Given the description of an element on the screen output the (x, y) to click on. 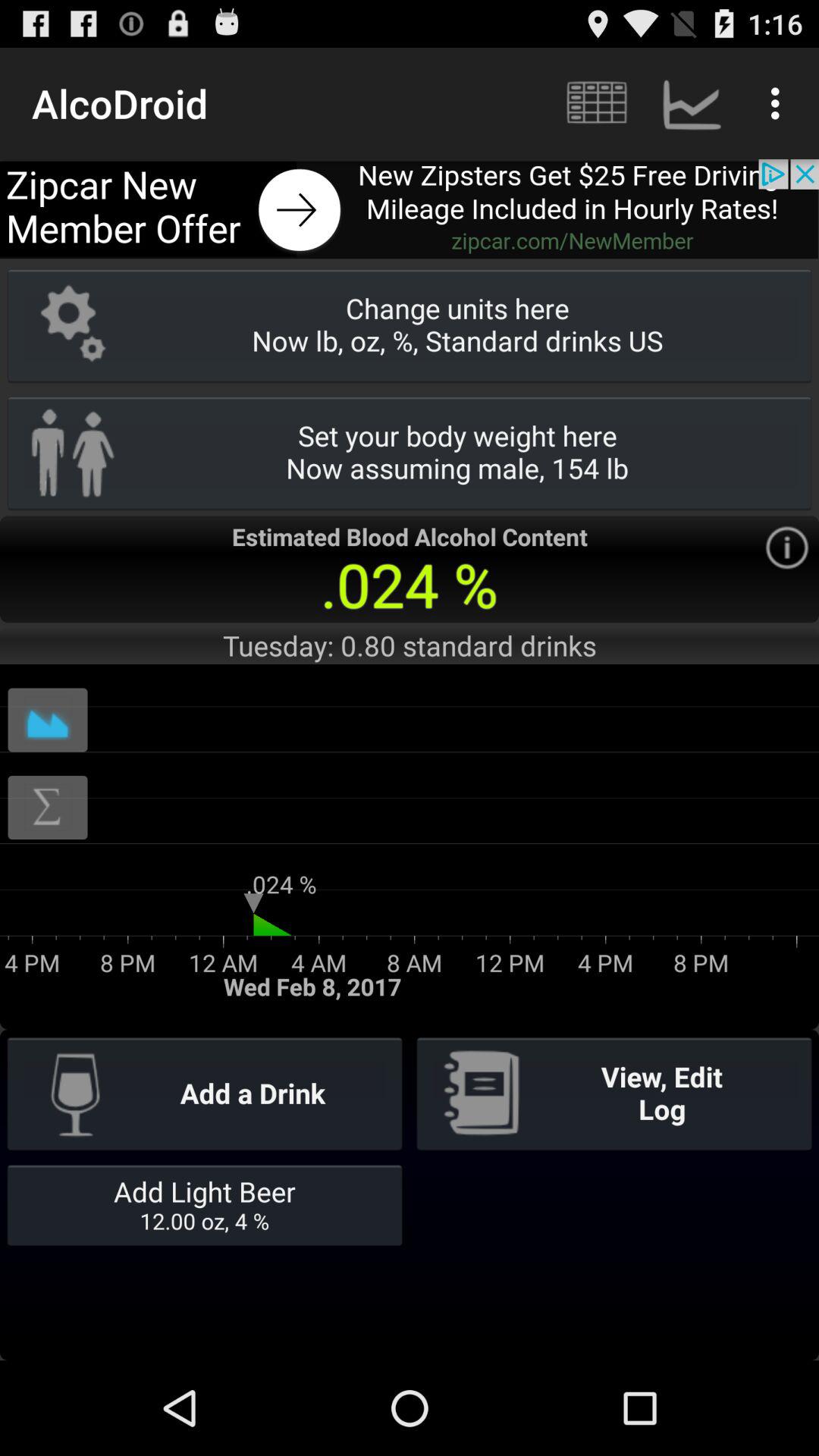
view graph (47, 719)
